Given the description of an element on the screen output the (x, y) to click on. 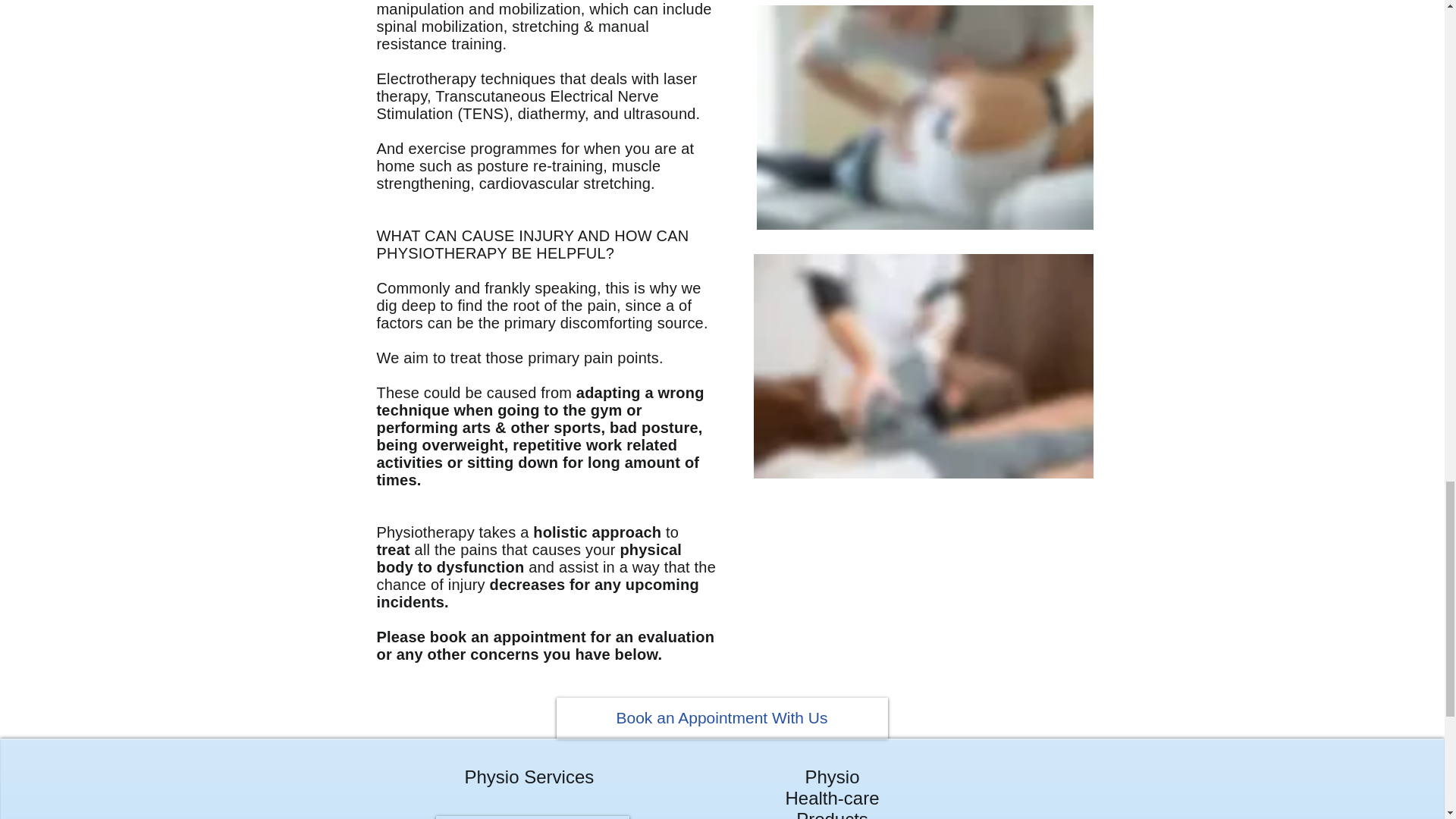
Osteopathy (531, 817)
Book an Appointment With Us (722, 717)
